Given the description of an element on the screen output the (x, y) to click on. 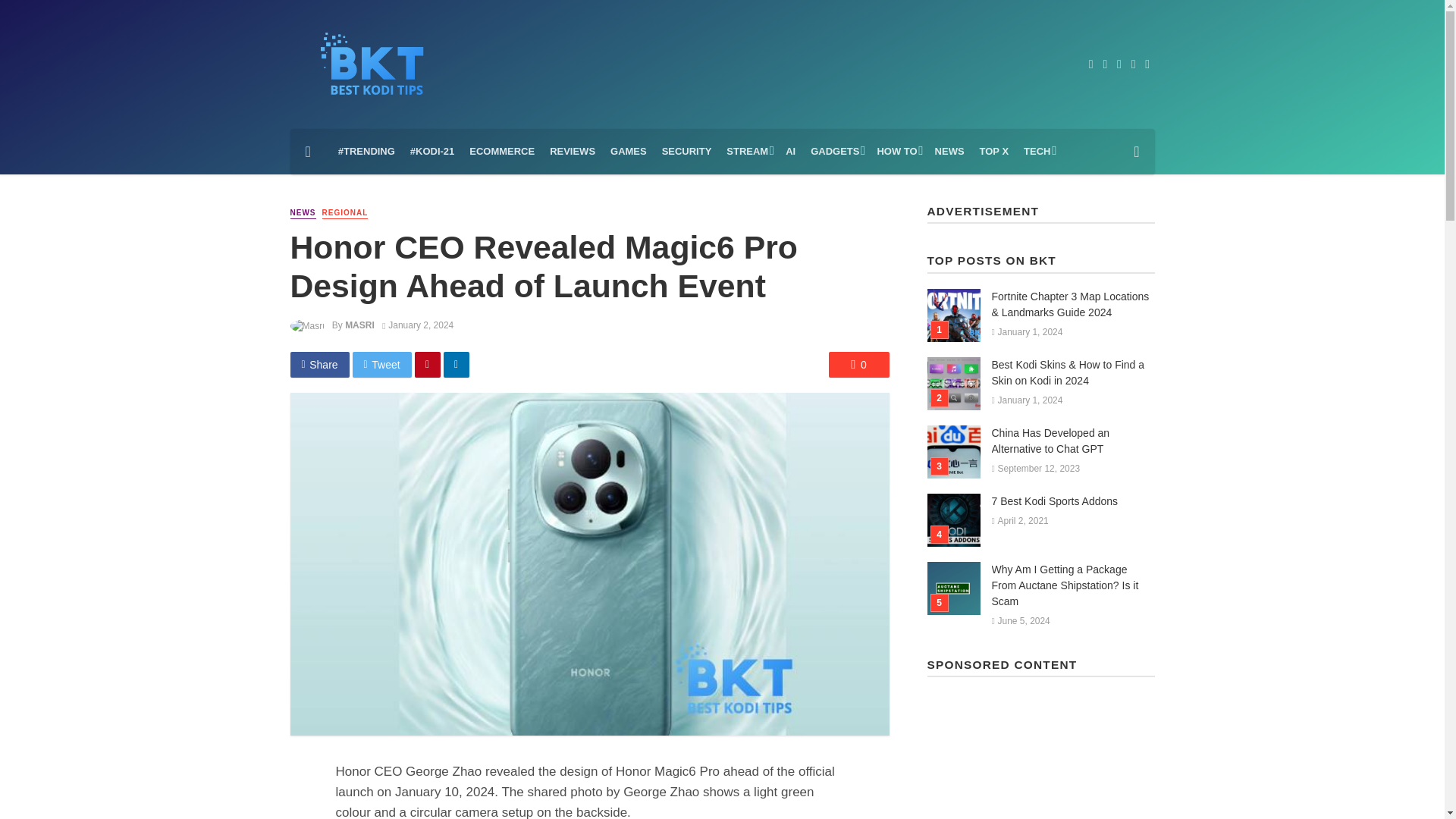
ECOMMERCE (501, 151)
TECH (1037, 151)
TOP X (994, 151)
Share on Pinterest (427, 364)
GAMES (627, 151)
Share on Facebook (319, 364)
0 Comments (858, 364)
REVIEWS (571, 151)
STREAM (748, 151)
GADGETS (836, 151)
